Given the description of an element on the screen output the (x, y) to click on. 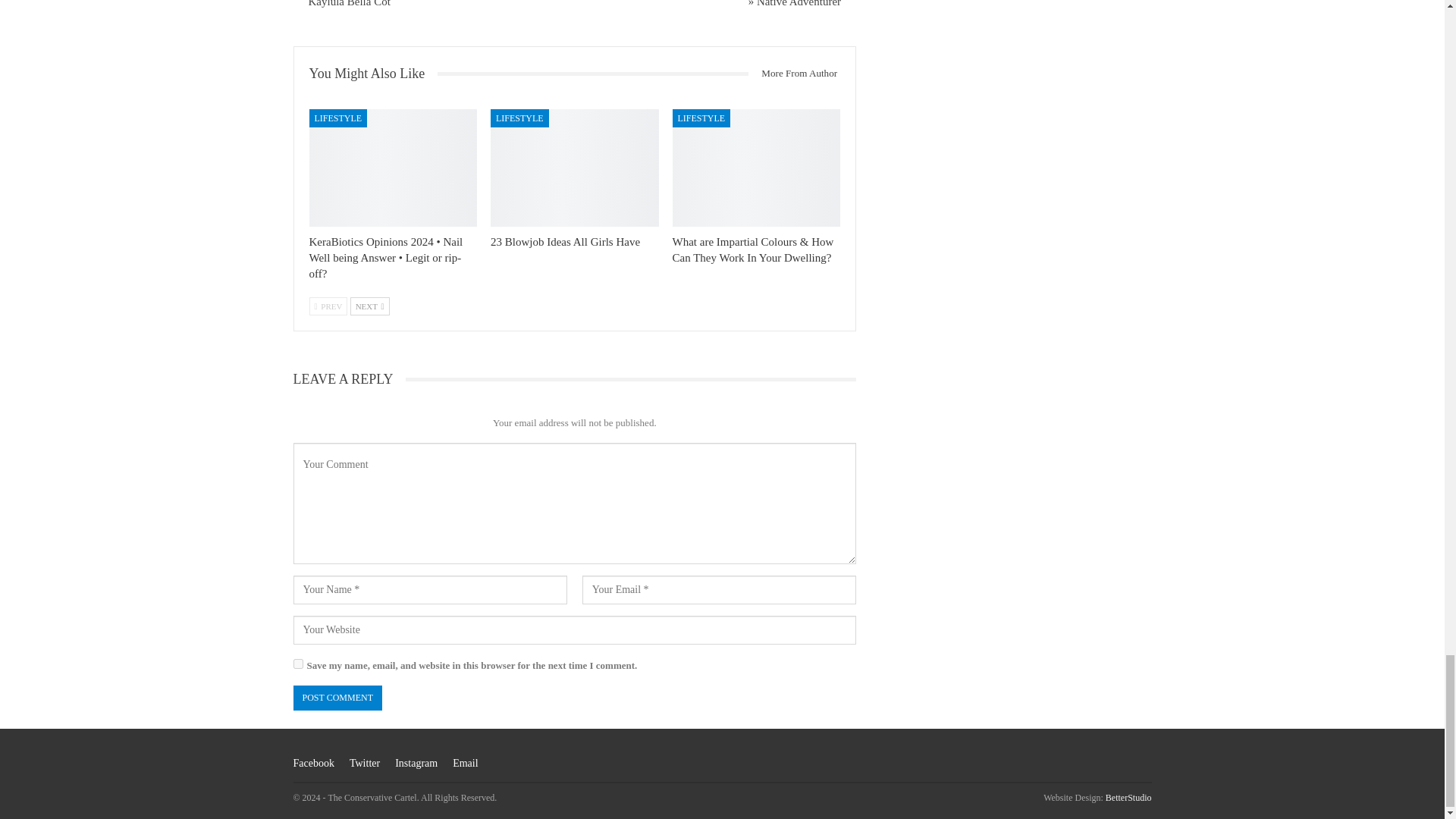
yes (297, 664)
23 Blowjob Ideas All Girls Have (574, 167)
Post Comment (336, 697)
23 Blowjob Ideas All Girls Have (565, 241)
